Given the description of an element on the screen output the (x, y) to click on. 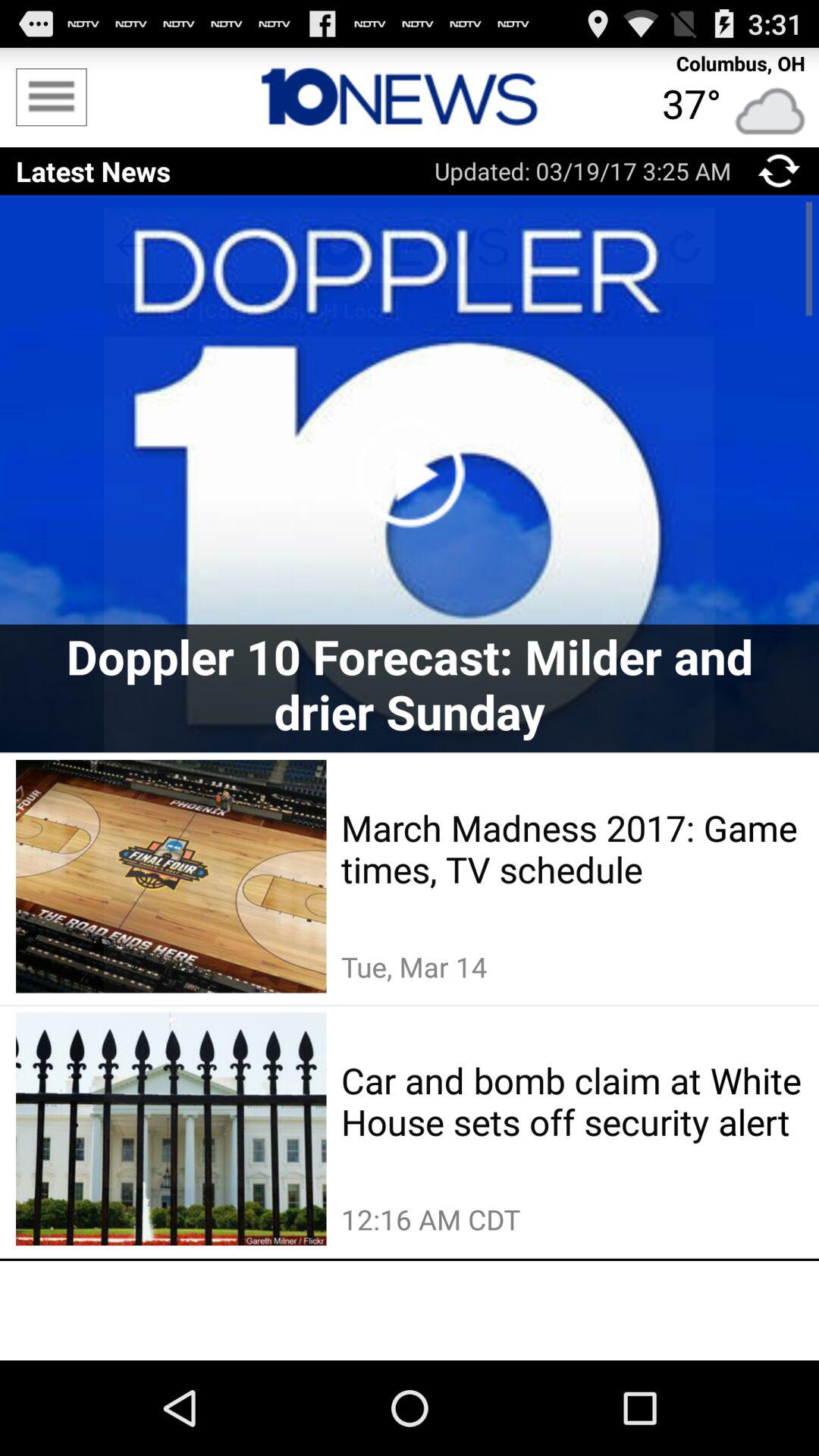
choose the march madness 2017 app (572, 848)
